Given the description of an element on the screen output the (x, y) to click on. 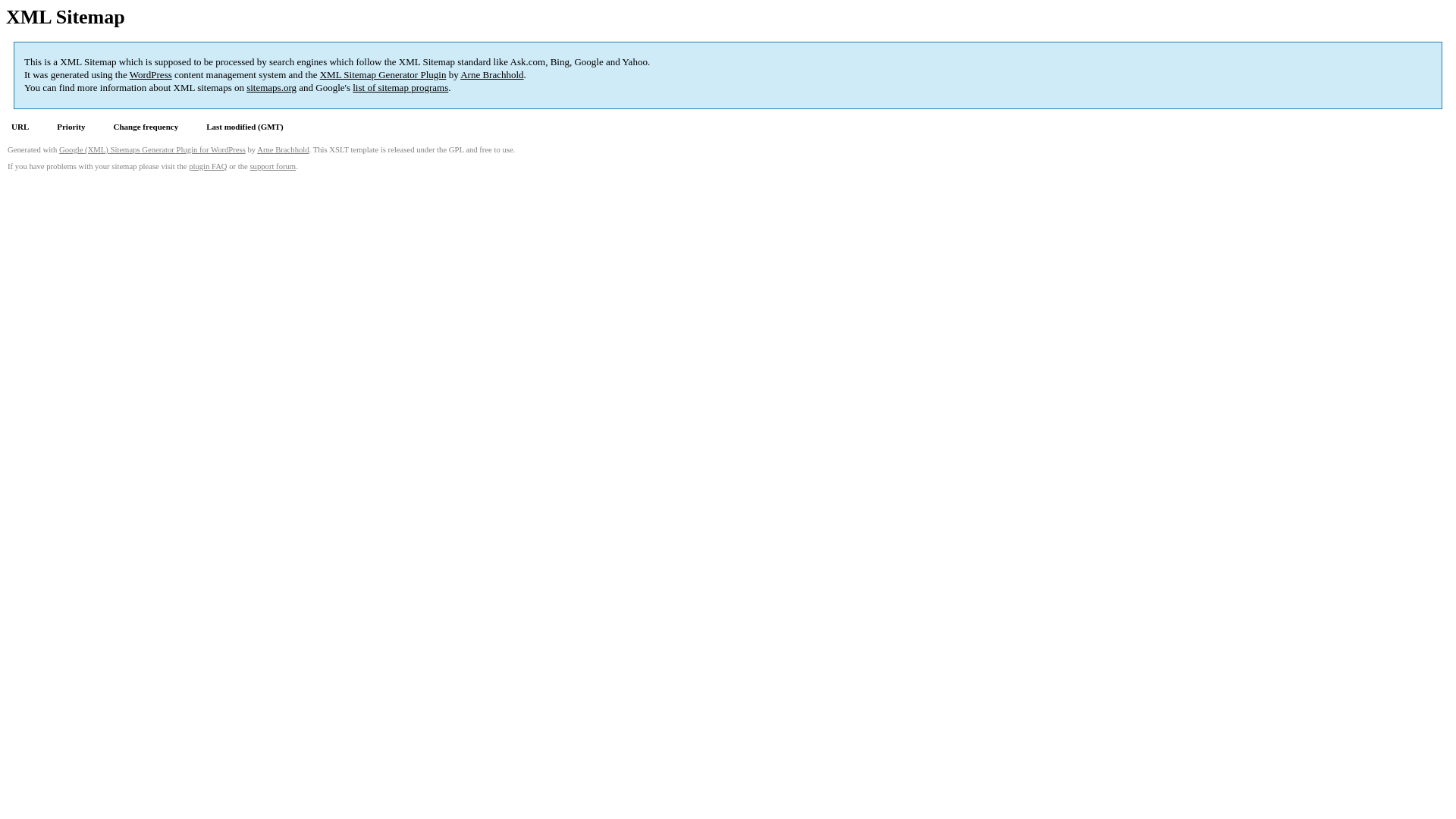
plugin FAQ Element type: text (207, 166)
XML Sitemap Generator Plugin Element type: text (383, 74)
WordPress Element type: text (150, 74)
list of sitemap programs Element type: text (400, 87)
support forum Element type: text (272, 166)
Google (XML) Sitemaps Generator Plugin for WordPress Element type: text (152, 149)
Arne Brachhold Element type: text (491, 74)
sitemaps.org Element type: text (271, 87)
Arne Brachhold Element type: text (282, 149)
